Given the description of an element on the screen output the (x, y) to click on. 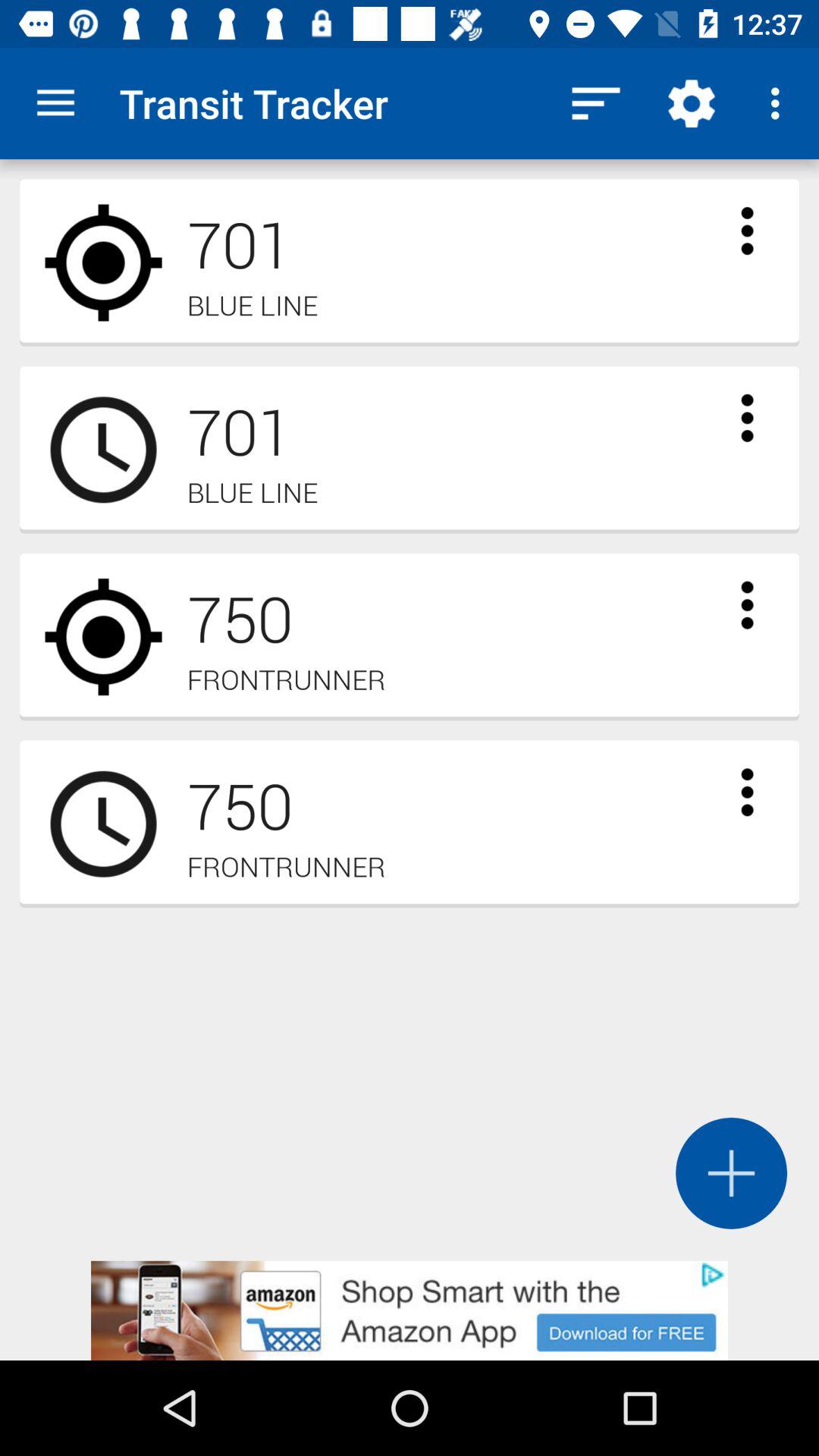
open the menu (747, 417)
